Given the description of an element on the screen output the (x, y) to click on. 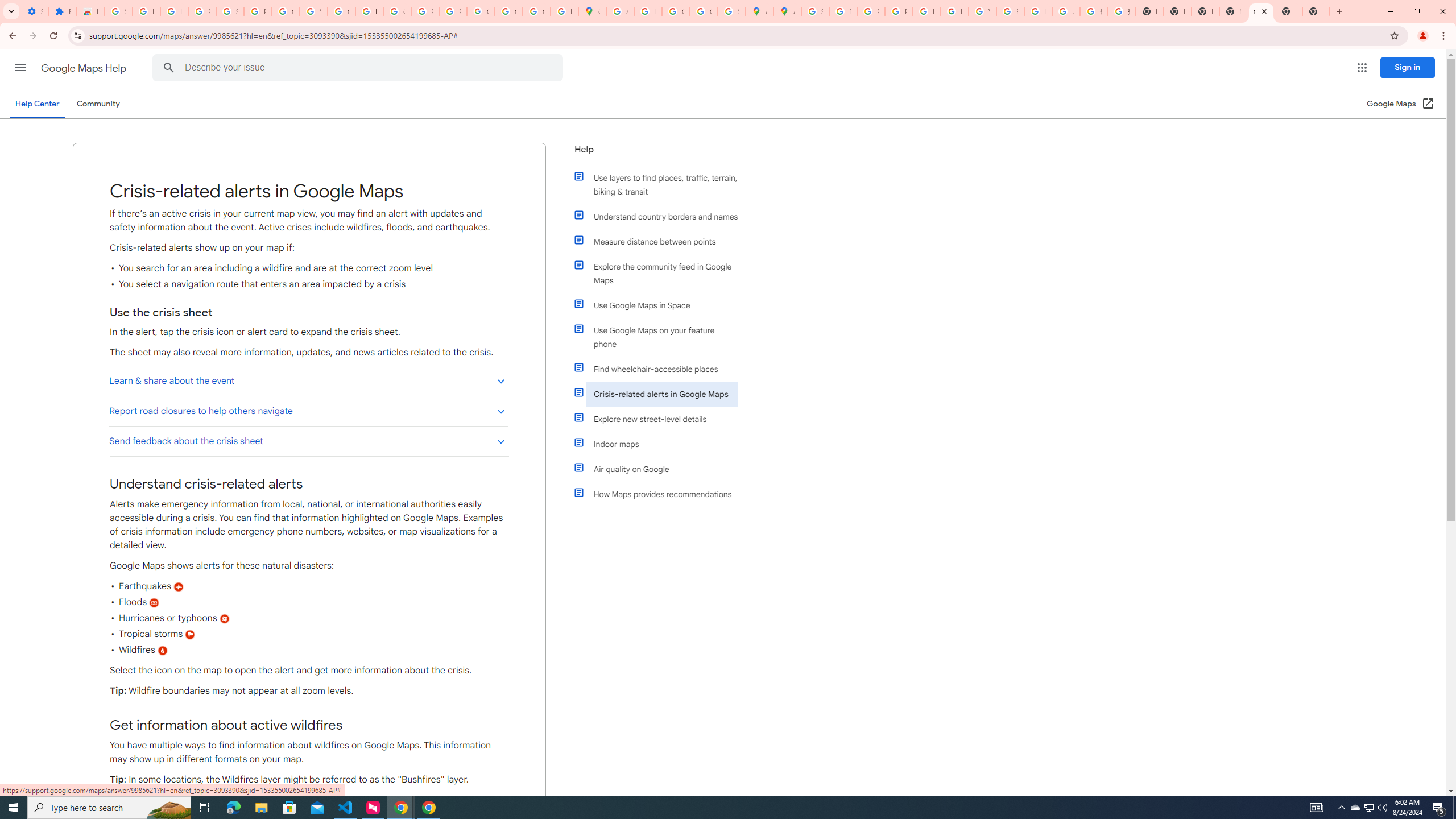
Google Account (285, 11)
Measure distance between points (661, 241)
Google Maps Help (84, 68)
Learn how to find your photos - Google Photos Help (174, 11)
Search Help Center (168, 67)
